Given the description of an element on the screen output the (x, y) to click on. 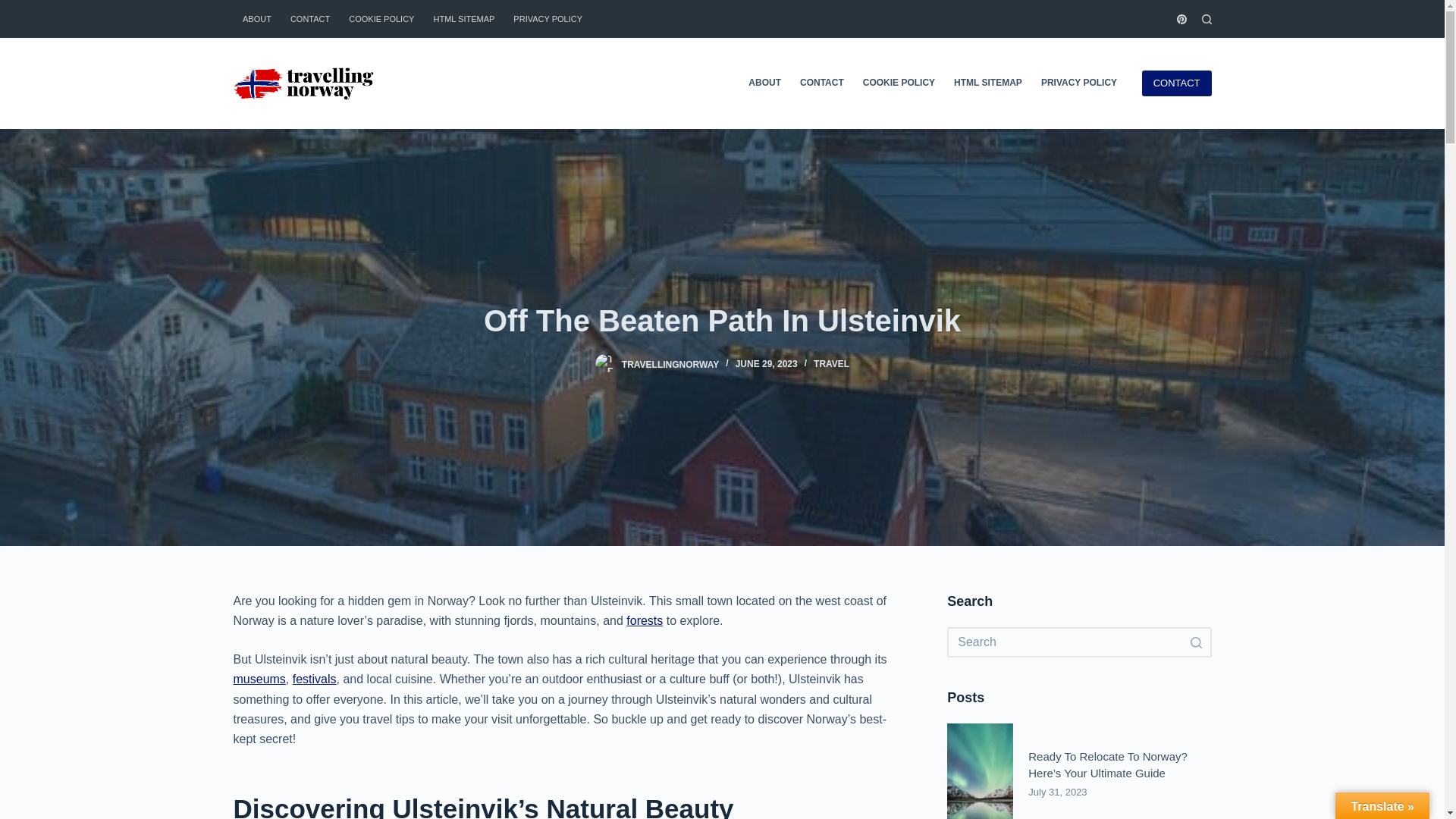
COOKIE POLICY (898, 82)
HTML SITEMAP (463, 18)
The Ultimate Guide To Norway's National Parks (644, 620)
PRIVACY POLICY (547, 18)
Norway's Art Scene: Museums And Galleries To Visit (258, 678)
ABOUT (256, 18)
Posts by travellingnorway (670, 363)
forests (644, 620)
CONTACT (310, 18)
festivals (314, 678)
